Given the description of an element on the screen output the (x, y) to click on. 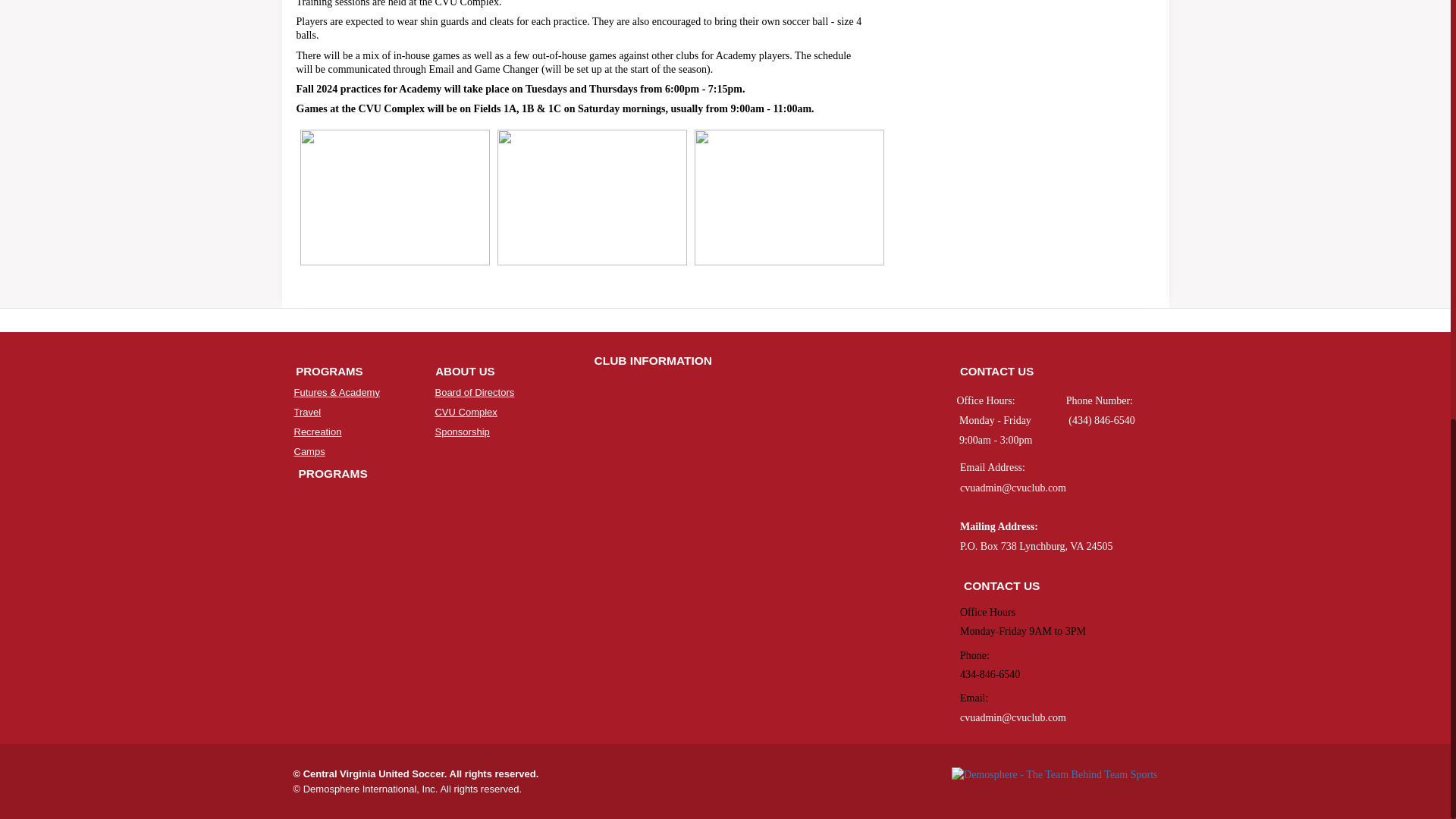
CVU Complex (464, 411)
Sponsorship (461, 431)
Camps (309, 451)
Travel (307, 411)
Recreation (318, 431)
Demosphere International, Inc. (370, 788)
Board of Directors (473, 392)
